Given the description of an element on the screen output the (x, y) to click on. 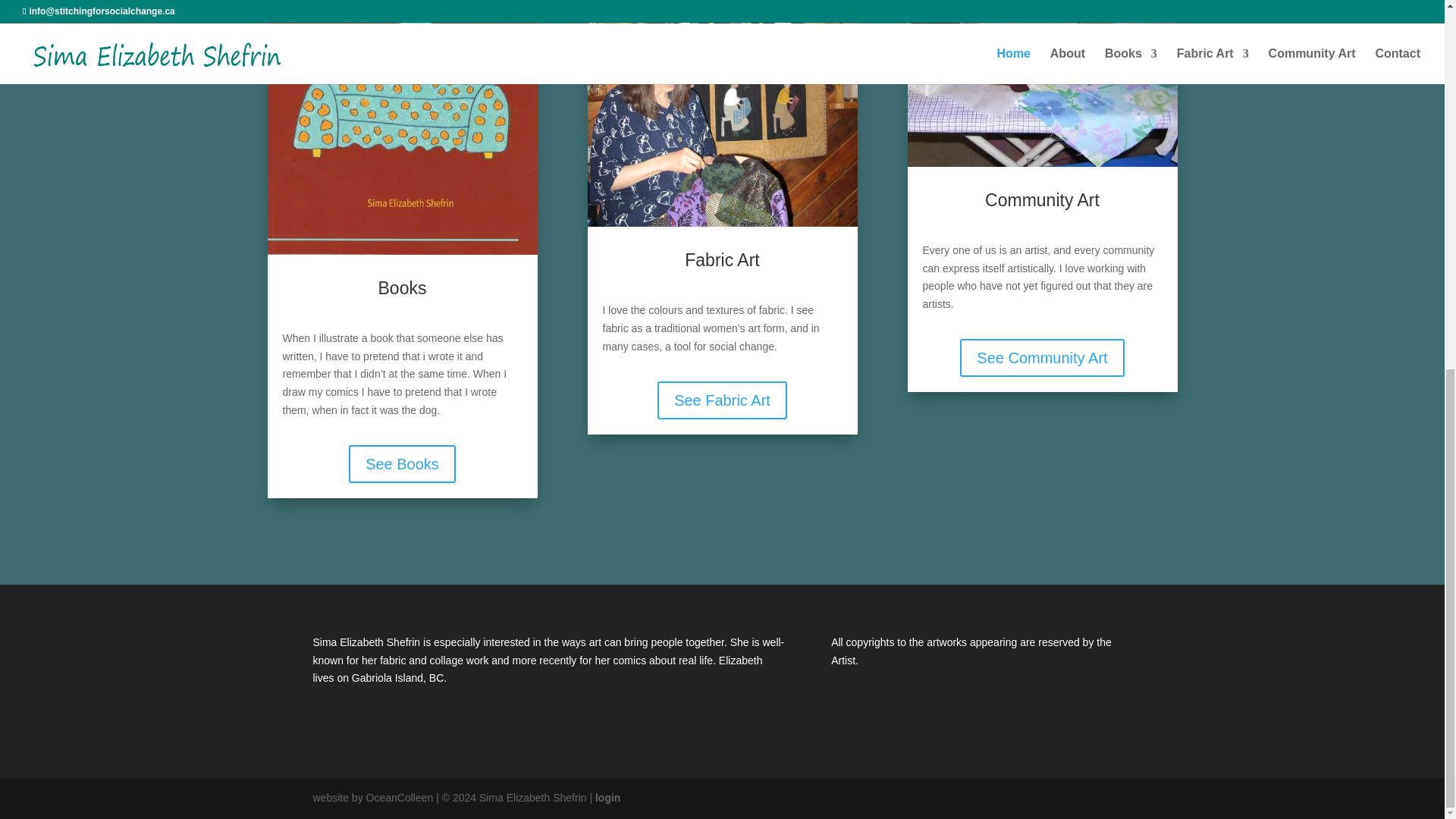
See Community Art (1041, 357)
See Fabric Art (722, 400)
Fabric Art (721, 113)
Community Art (1041, 83)
See Books (402, 464)
Couches get lonely too (401, 126)
login (607, 797)
